Given the description of an element on the screen output the (x, y) to click on. 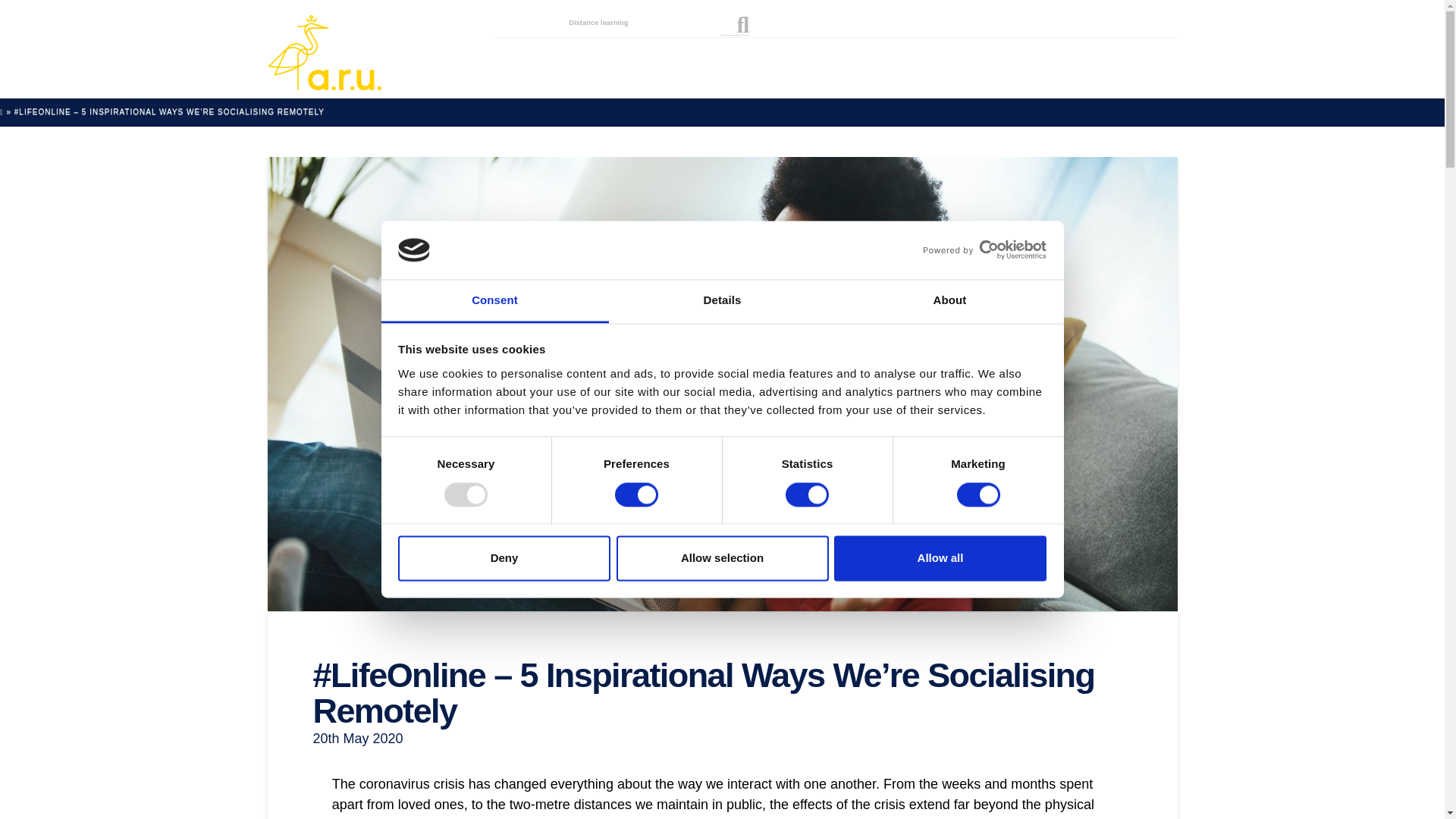
Search the ARU Distance Learning website (734, 29)
Consent (494, 301)
Return to the ARU Distance Learning homepage (323, 52)
About (948, 301)
Details (721, 301)
